Given the description of an element on the screen output the (x, y) to click on. 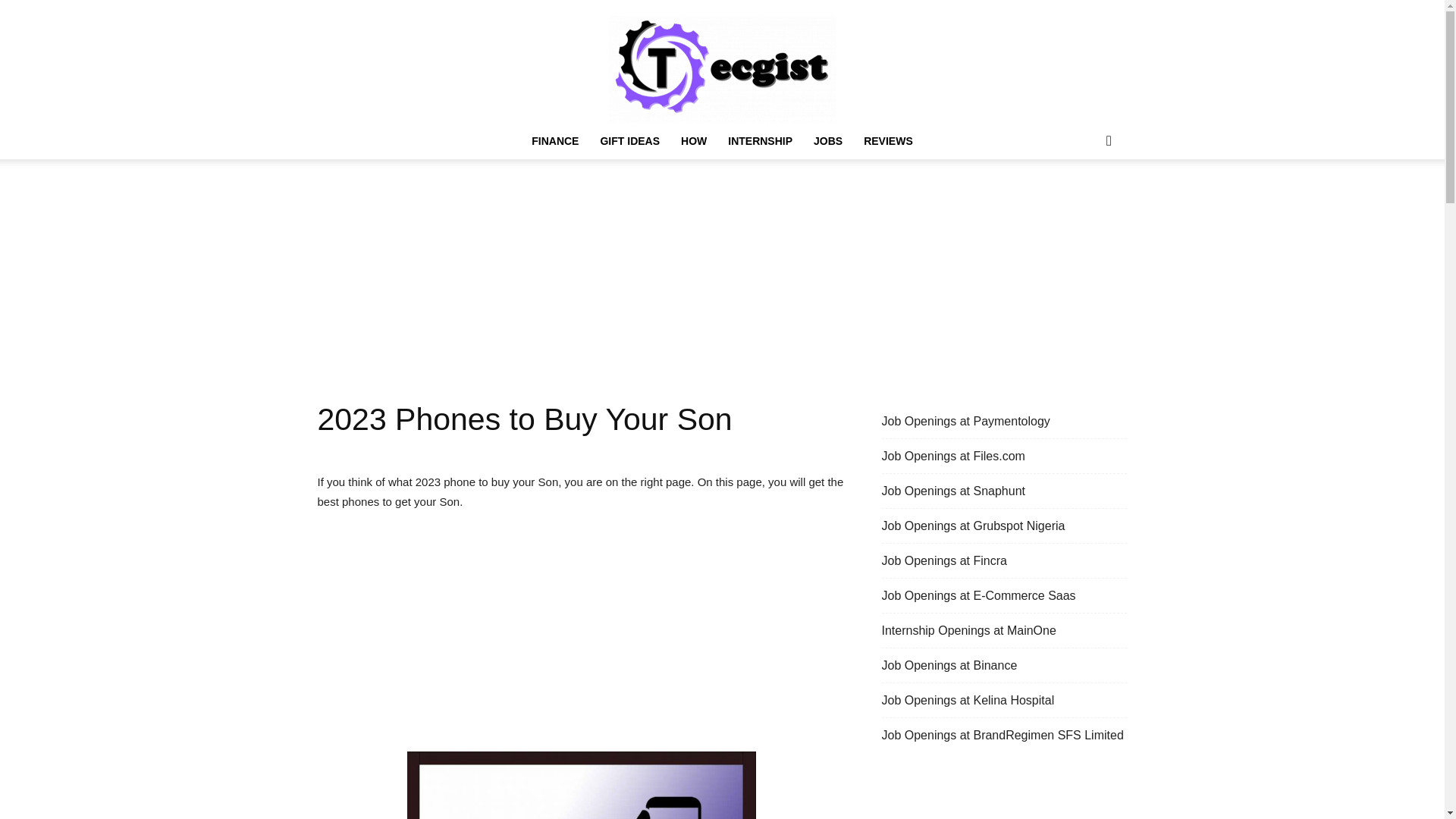
REVIEWS (888, 140)
GIFT IDEAS (629, 140)
INTERNSHIP (760, 140)
JOBS (828, 140)
FINANCE (555, 140)
Search (1085, 201)
Advertisement (580, 637)
HOW (693, 140)
